Given the description of an element on the screen output the (x, y) to click on. 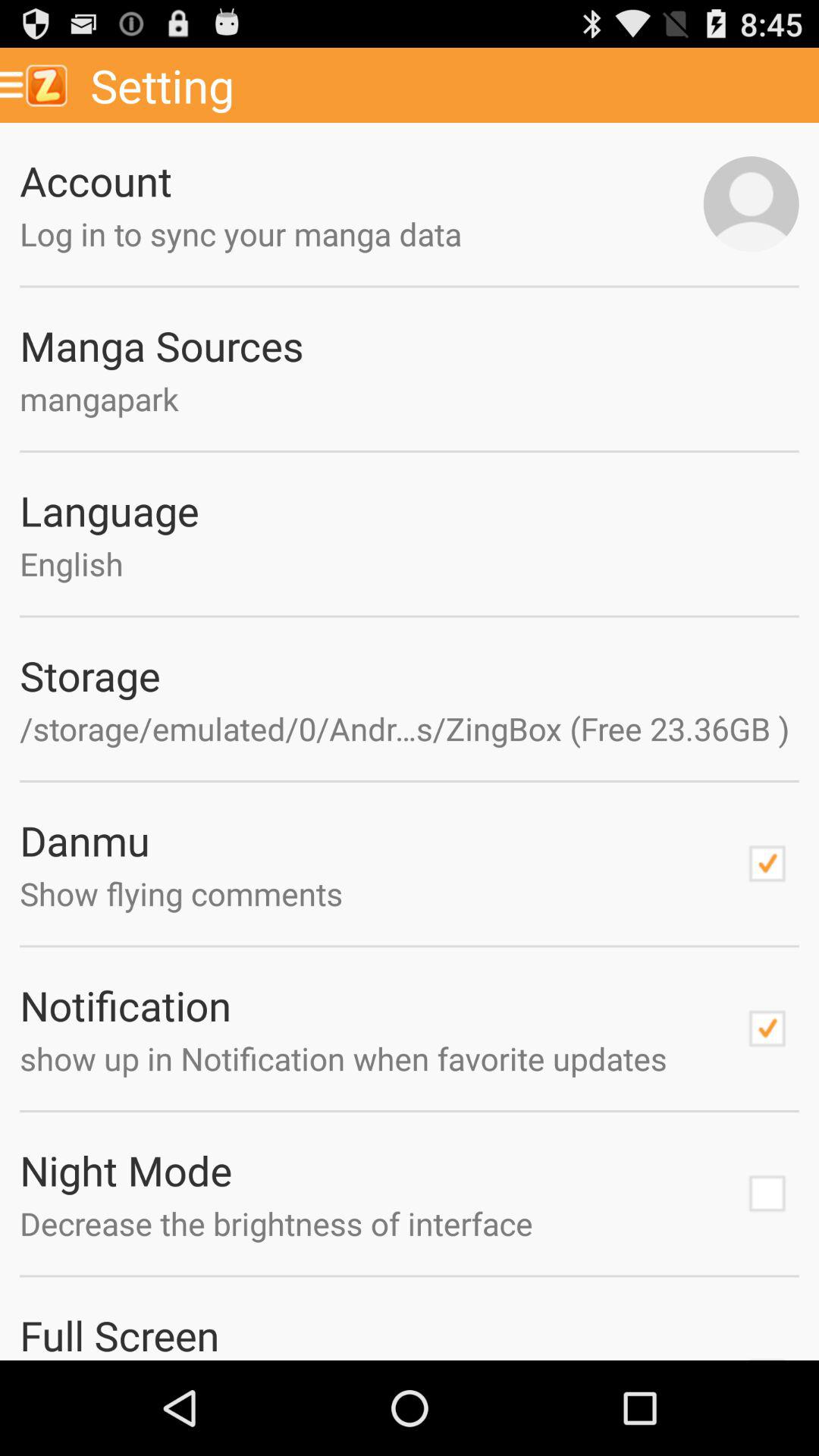
turn on setting (449, 85)
